Given the description of an element on the screen output the (x, y) to click on. 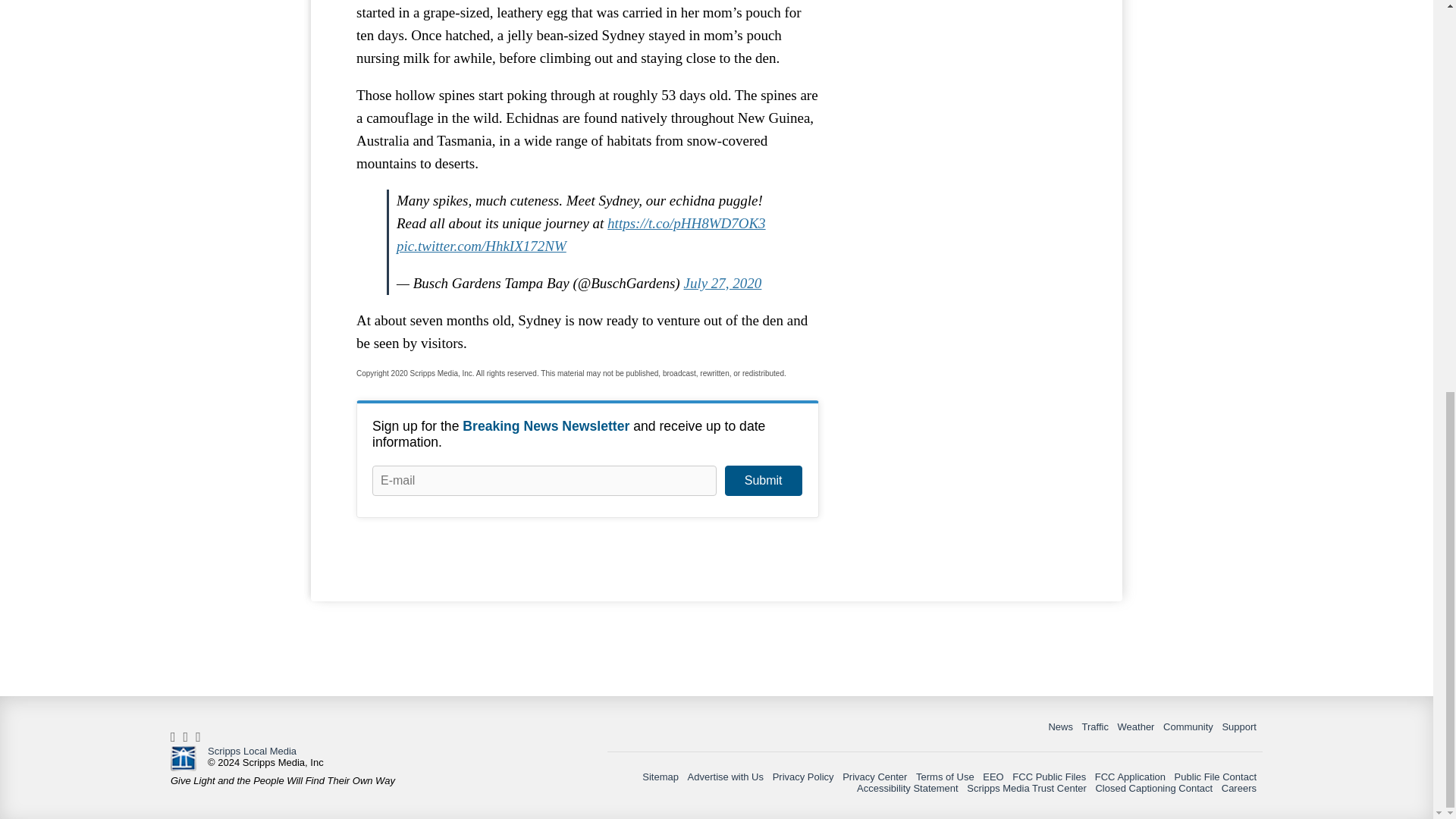
Submit (763, 481)
